Given the description of an element on the screen output the (x, y) to click on. 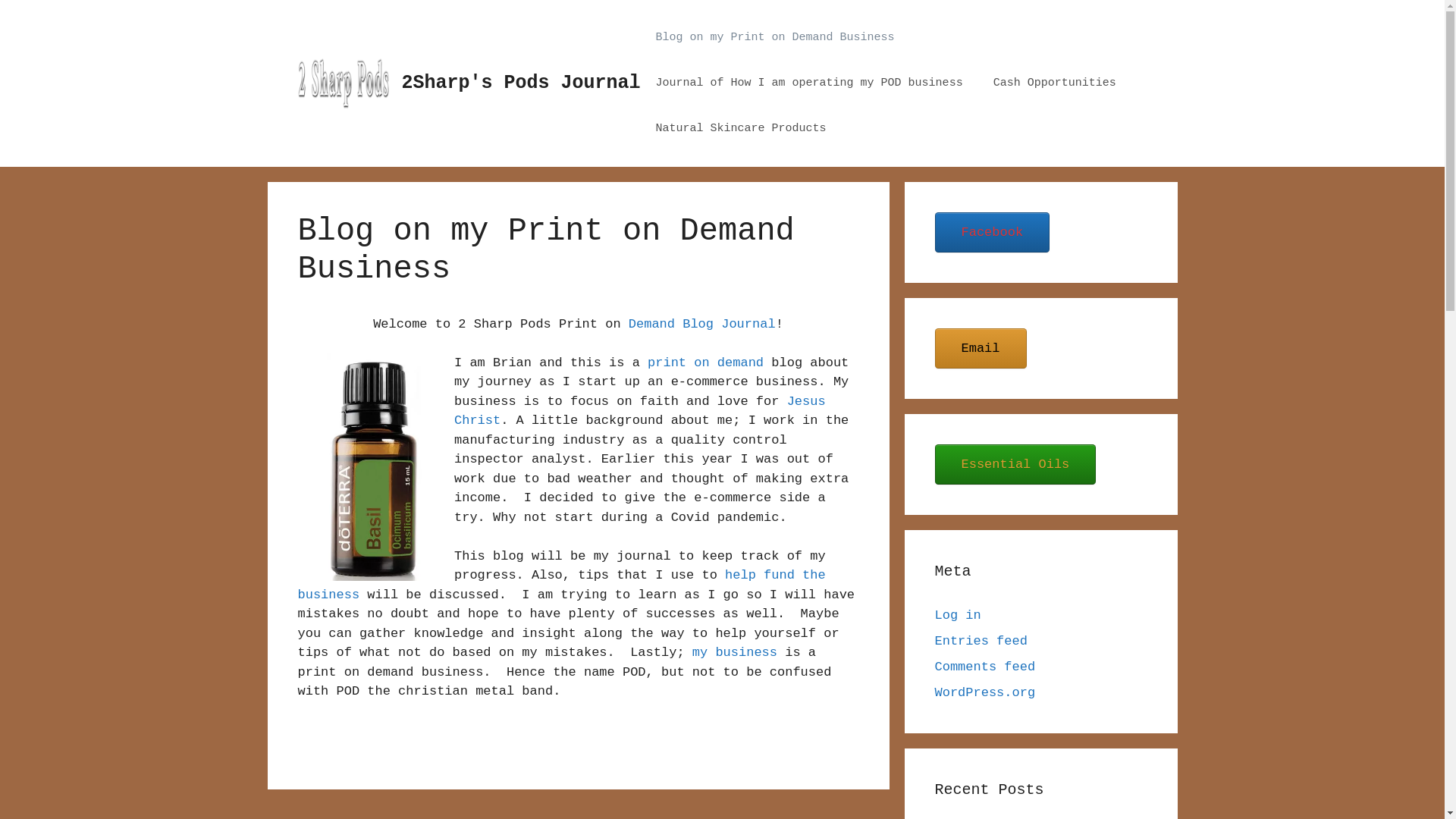
my business Element type: text (734, 652)
Facebook Element type: text (991, 232)
help fund the business Element type: text (561, 584)
Entries feed Element type: text (980, 640)
Comments feed Element type: text (984, 666)
Log in Element type: text (957, 615)
Essential Oils Element type: text (1014, 464)
Cash Opportunities Element type: text (1054, 83)
Demand Blog Journal Element type: text (701, 323)
Journal of How I am operating my POD business Element type: text (809, 83)
WordPress.org Element type: text (984, 692)
Natural Skincare Products Element type: text (740, 128)
For Healthier you try these oils  Element type: hover (365, 466)
2Sharp's Pods Journal Element type: text (520, 83)
Email Element type: text (980, 348)
Jesus Christ Element type: text (639, 411)
print on demand Element type: text (705, 362)
Blog on my Print on Demand Business Element type: text (775, 37)
